Given the description of an element on the screen output the (x, y) to click on. 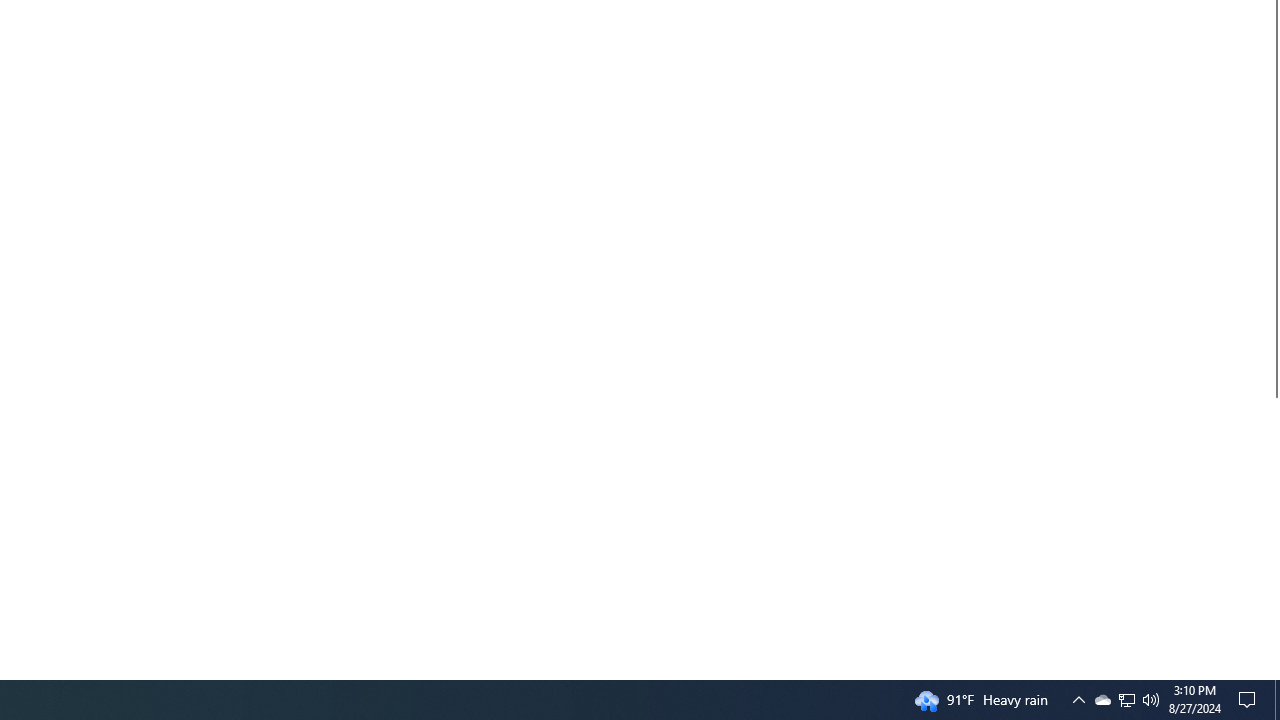
Vertical Small Increase (1272, 671)
Vertical Large Increase (1272, 530)
